Given the description of an element on the screen output the (x, y) to click on. 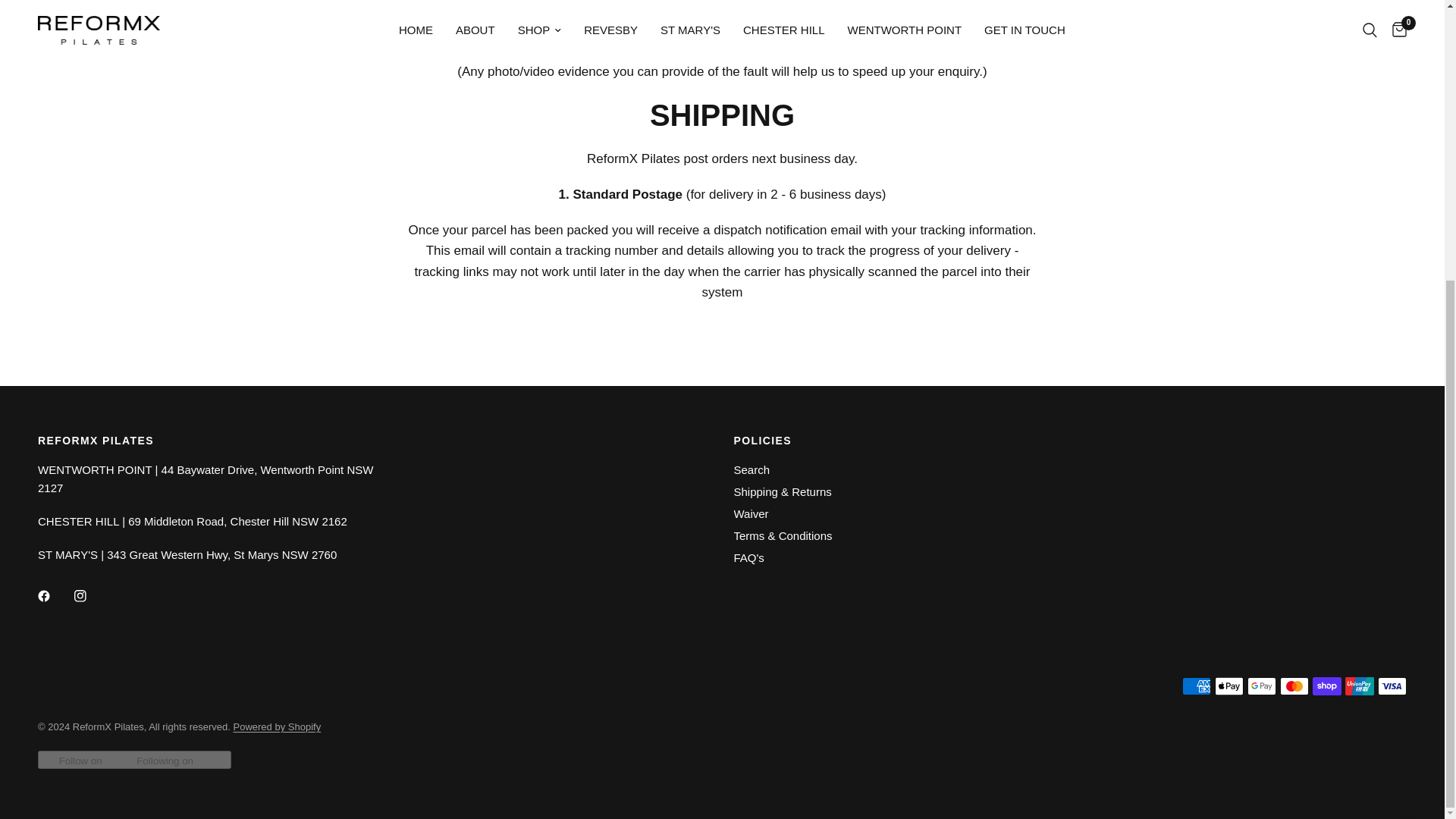
POLICIES (896, 439)
Search (751, 469)
Facebook (54, 595)
Waiver (750, 513)
Search (751, 469)
Waiver (750, 513)
Instagram (90, 595)
